Given the description of an element on the screen output the (x, y) to click on. 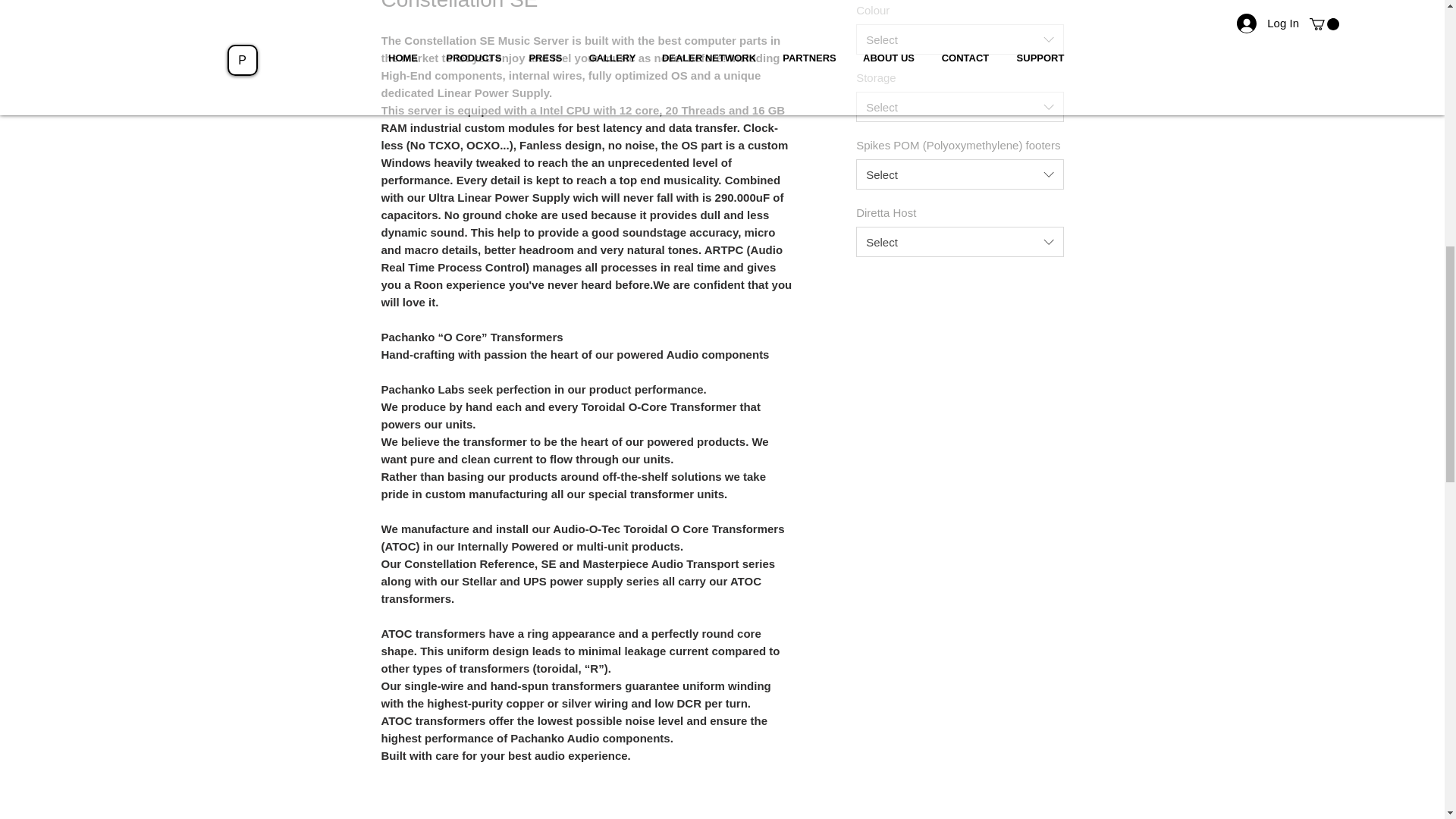
Select (959, 39)
Select (959, 241)
Select (959, 106)
Select (959, 173)
